Given the description of an element on the screen output the (x, y) to click on. 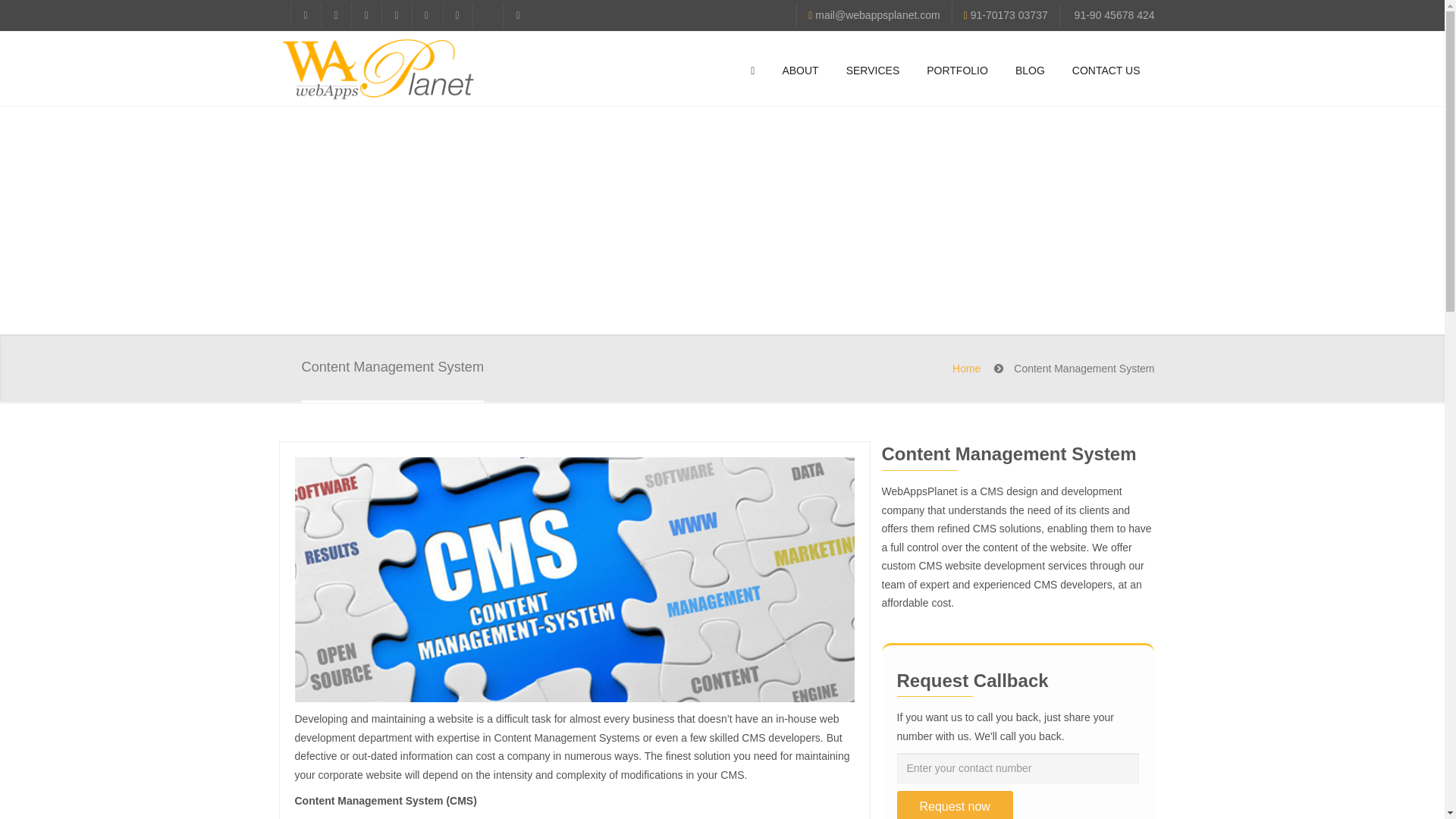
WebAppsPlanet Twitter (335, 15)
91-70173 03737 (1009, 15)
ABOUT (799, 70)
WebAppsPlanet Linkedin (395, 15)
SERVICES (873, 70)
WebAppsPlanet Facebook (304, 15)
WebAppsPlanet Youtube (365, 15)
91-90 45678 424 (1114, 15)
WebAppsPlanet Skype (425, 15)
